Given the description of an element on the screen output the (x, y) to click on. 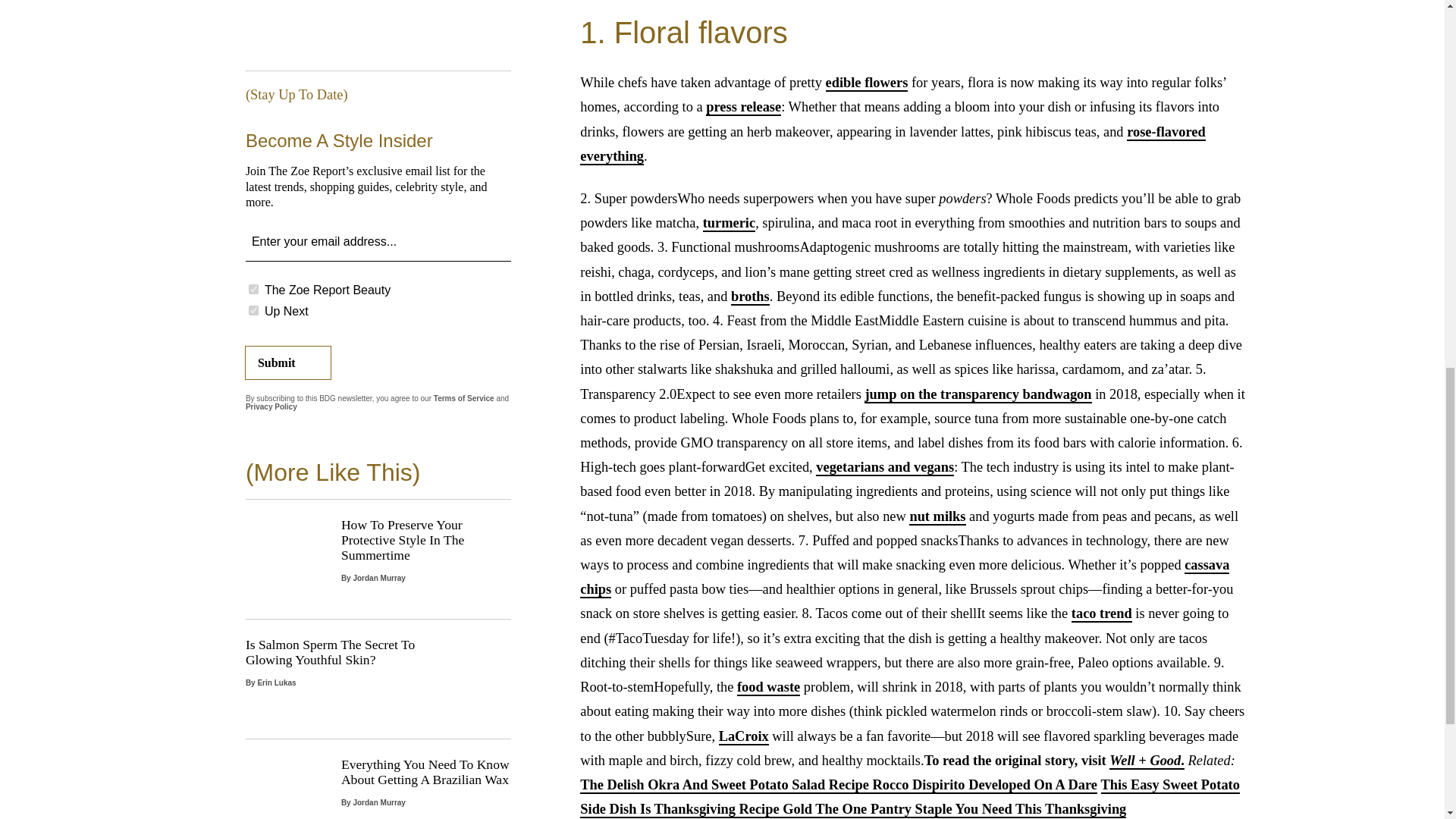
jump on the transparency bandwagon (977, 394)
This Easy Sweet Potato Side Dish Is Thanksgiving Recipe Gold (909, 797)
food waste (767, 687)
taco trend (1101, 614)
cassava chips (903, 577)
nut milks (936, 516)
Terms of Service (464, 397)
Submit (288, 362)
rose-flavored everything (892, 144)
vegetarians and vegans (884, 467)
edible flowers (866, 83)
